Given the description of an element on the screen output the (x, y) to click on. 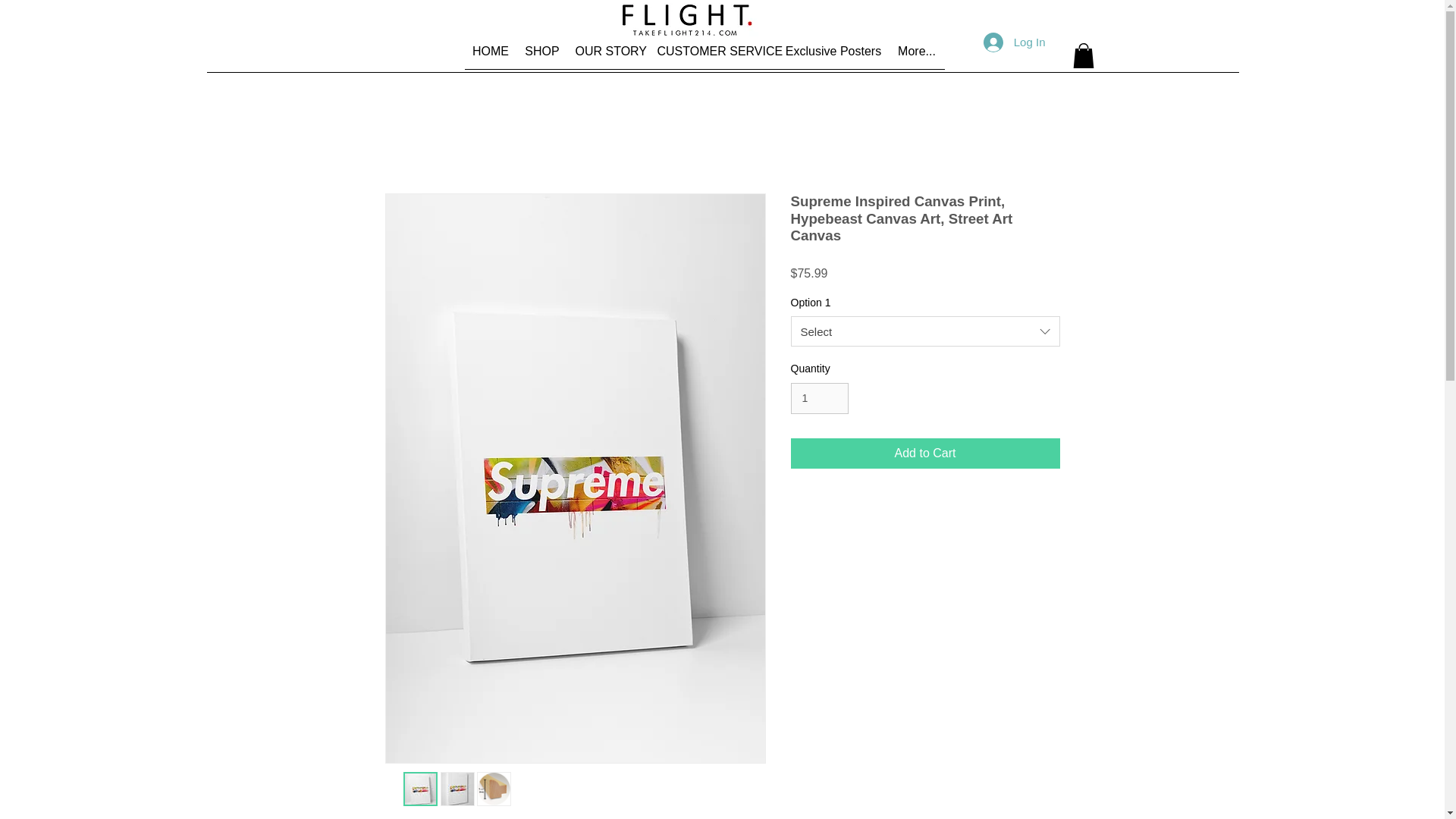
Add to Cart (924, 453)
1 (818, 398)
Log In (1014, 41)
Select (924, 331)
CUSTOMER SERVICE (713, 55)
HOME (490, 55)
OUR STORY (608, 55)
SHOP (541, 55)
Exclusive Posters (833, 55)
